Given the description of an element on the screen output the (x, y) to click on. 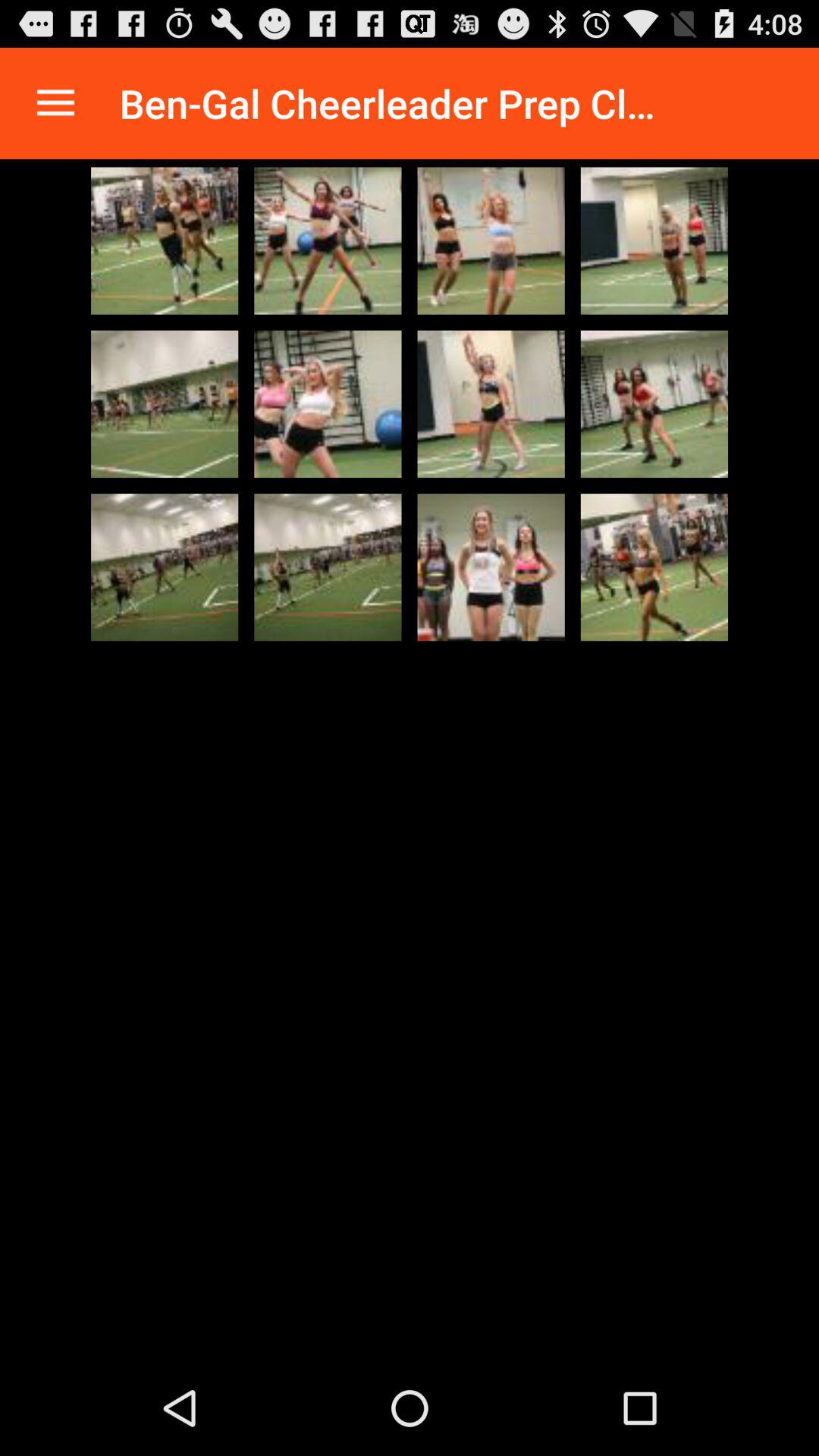
view photo (327, 240)
